Given the description of an element on the screen output the (x, y) to click on. 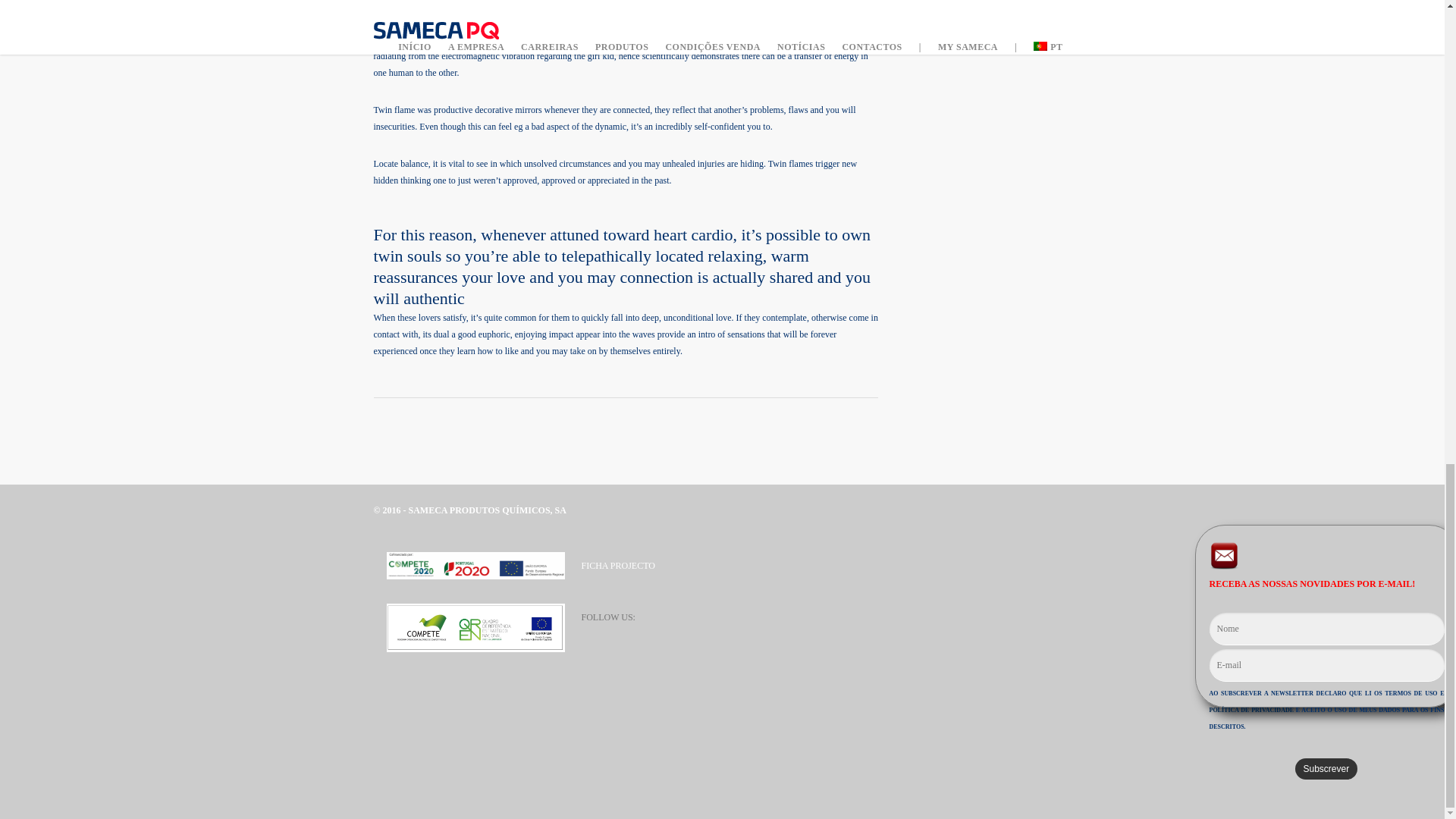
Subscrever (1326, 768)
FICHA PROJECTO (616, 565)
Subscrever (1326, 768)
